Given the description of an element on the screen output the (x, y) to click on. 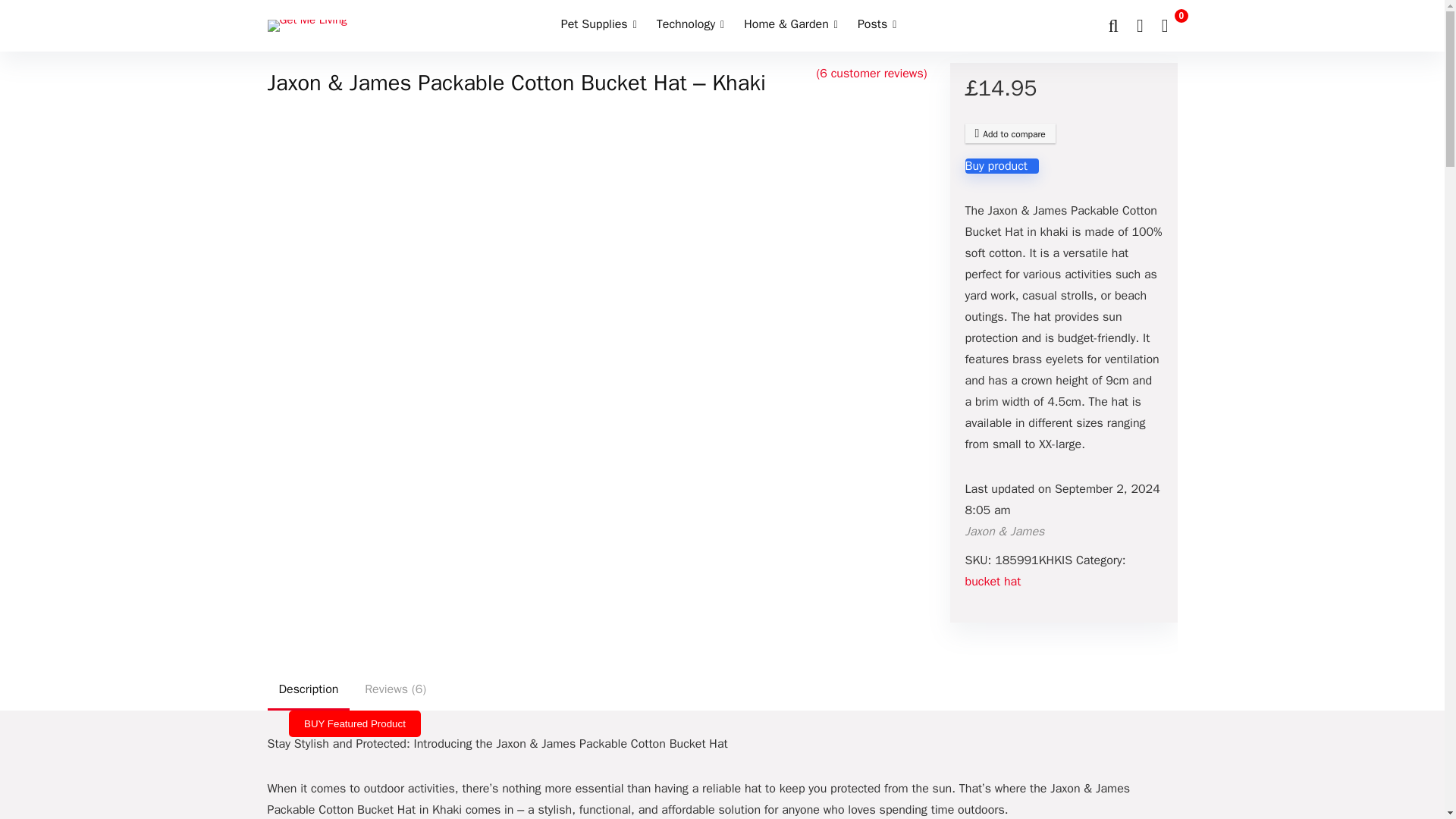
Posts (876, 25)
Technology (689, 25)
Buy product (1000, 165)
Pet Supplies (598, 25)
BUY Featured Product (354, 723)
bucket hat (991, 581)
Description (307, 689)
